Given the description of an element on the screen output the (x, y) to click on. 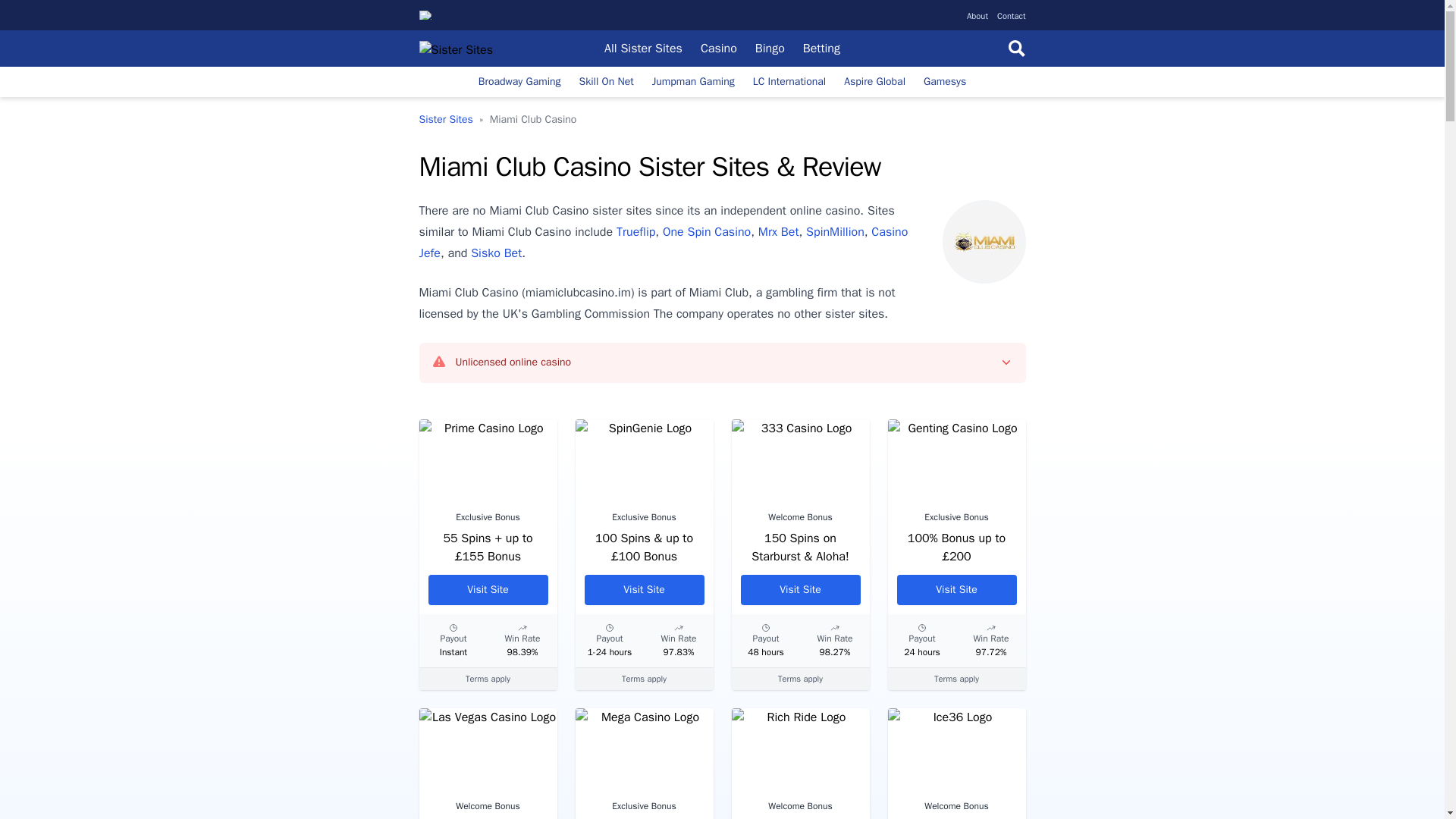
Las Vegas Casino Logo (487, 749)
Rich Ride Logo (799, 749)
Trueflip (635, 231)
Sister Sites Logo (467, 48)
Mega Casino Logo (644, 749)
LC International (789, 81)
Casino Jefe (663, 242)
Sister Sites (445, 119)
Mrx Bet (778, 231)
Gamesys (944, 81)
